Given the description of an element on the screen output the (x, y) to click on. 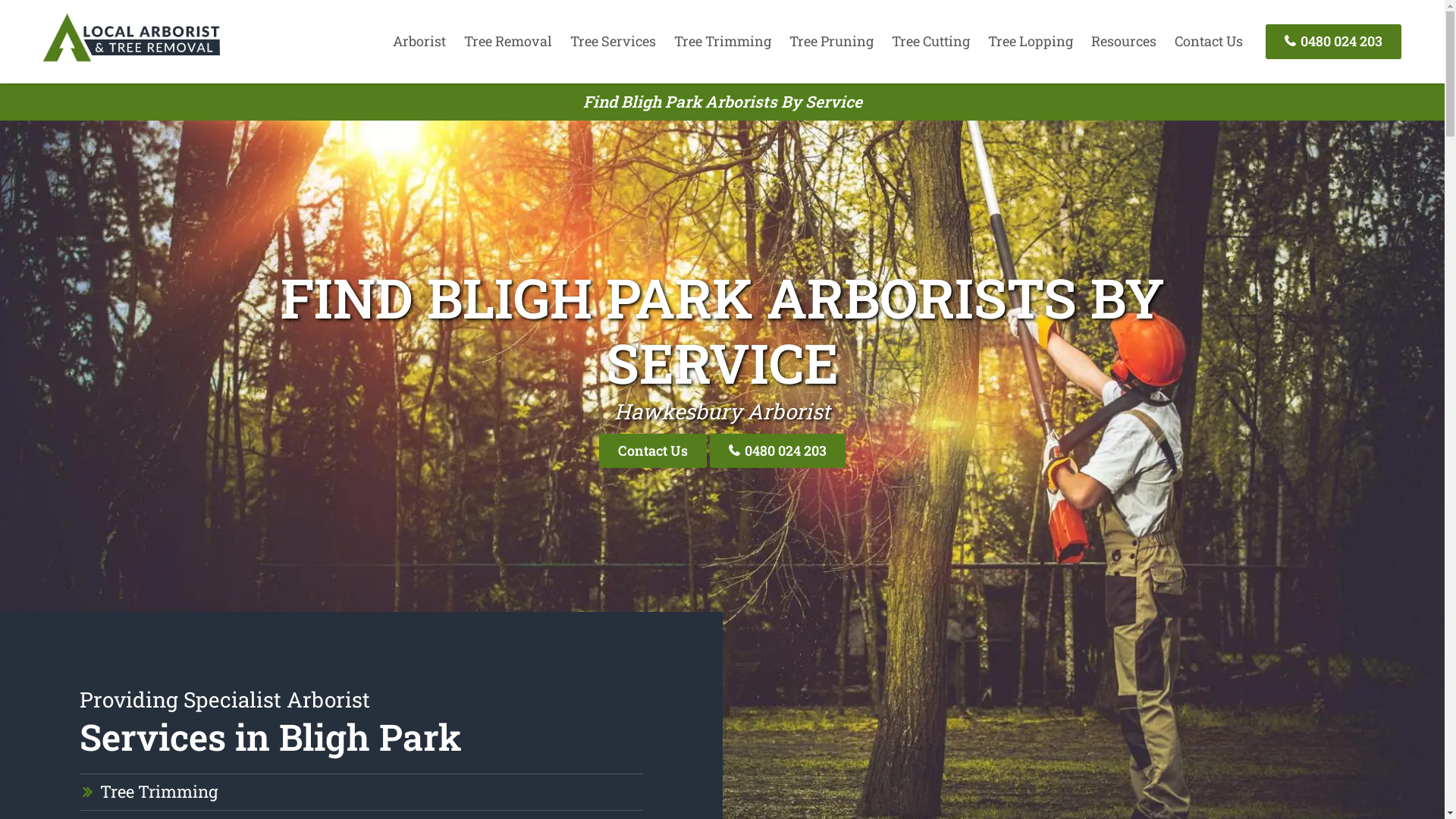
Local Arborists & Tree Removal Element type: hover (131, 60)
Contact Us Element type: text (652, 450)
Tree Trimming Element type: text (158, 791)
Tree Removal Element type: text (507, 40)
0480 024 203 Element type: text (1333, 41)
Tree Cutting Element type: text (930, 40)
0480 024 203 Element type: text (777, 450)
Contact Us Element type: text (1208, 40)
Tree Pruning Element type: text (831, 40)
Tree Services Element type: text (612, 40)
Arborist Element type: text (419, 40)
Tree Lopping Element type: text (1030, 40)
Tree Trimming Element type: text (722, 40)
Resources Element type: text (1123, 40)
